Given the description of an element on the screen output the (x, y) to click on. 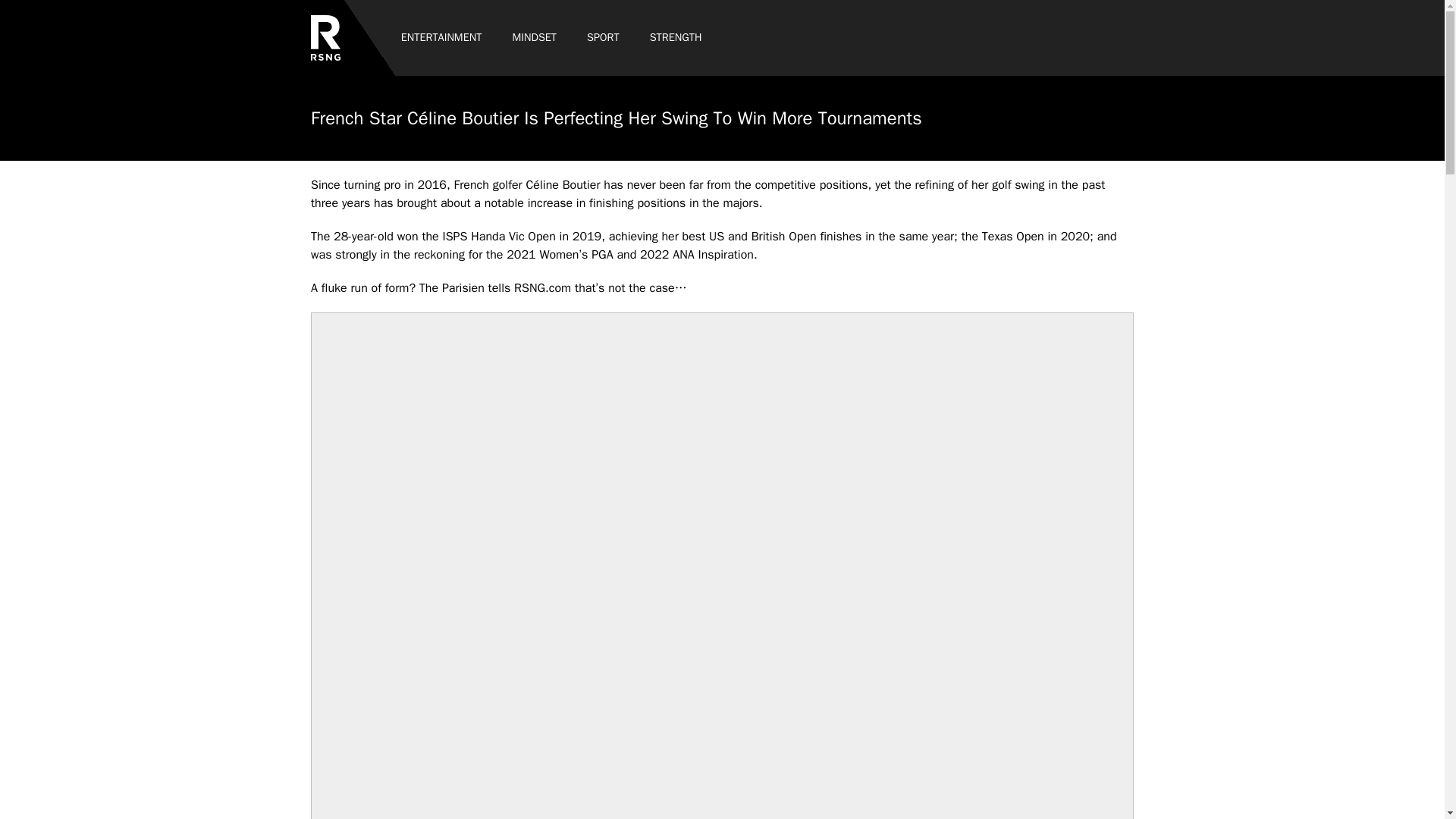
ENTERTAINMENT (441, 38)
MINDSET (533, 38)
SPORT (603, 38)
STRENGTH (676, 38)
